Given the description of an element on the screen output the (x, y) to click on. 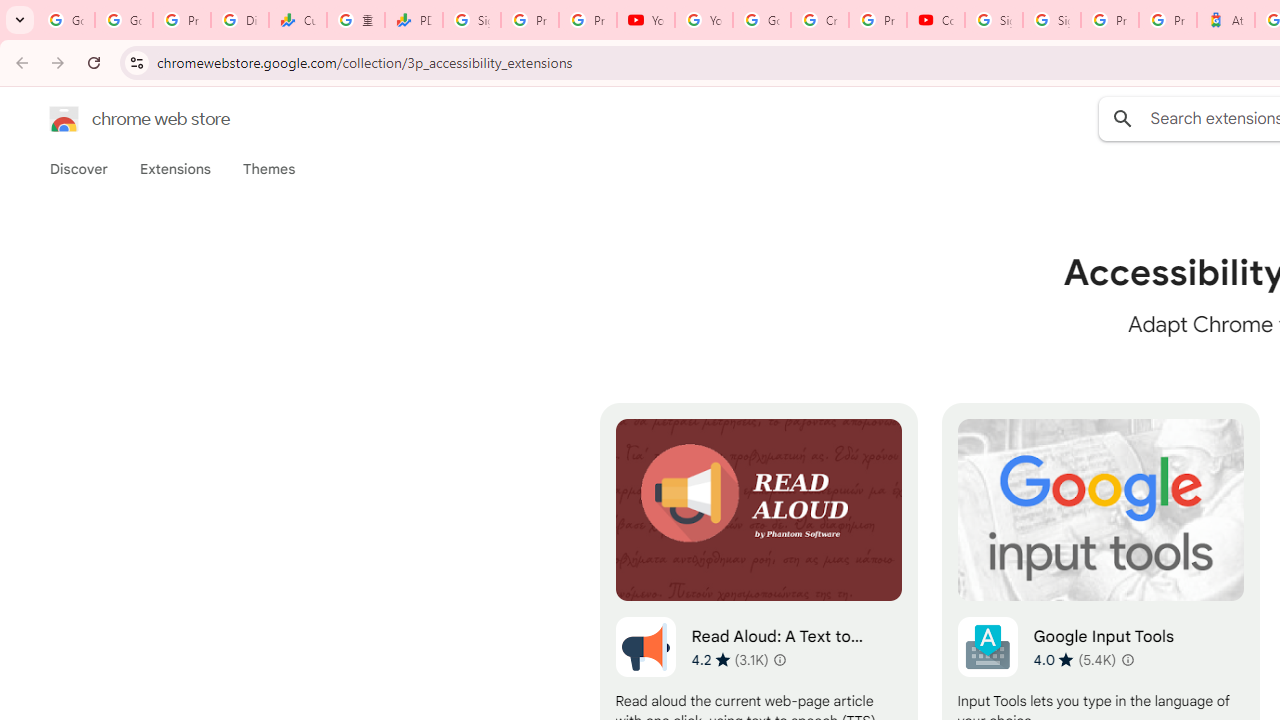
Average rating 4.2 out of 5 stars. 3.1K ratings. (730, 659)
Google Account Help (762, 20)
Privacy Checkup (587, 20)
Themes (269, 169)
Sign in - Google Accounts (471, 20)
Content Creator Programs & Opportunities - YouTube Creators (936, 20)
YouTube (645, 20)
Discover (79, 169)
Atour Hotel - Google hotels (1225, 20)
